Given the description of an element on the screen output the (x, y) to click on. 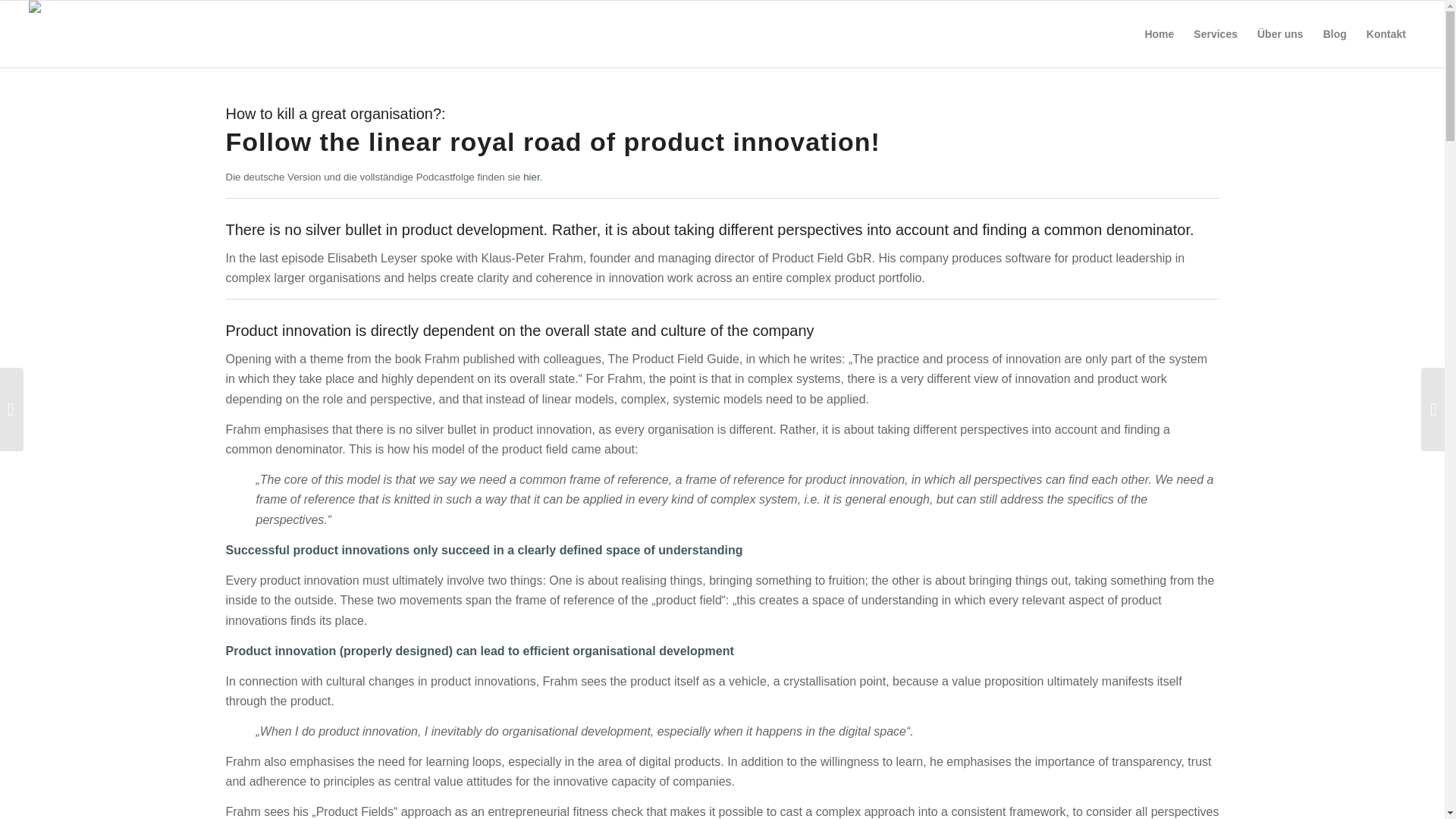
Services (1215, 33)
Home (1158, 33)
hier (531, 176)
Kontakt (1385, 33)
Blog (1334, 33)
